Given the description of an element on the screen output the (x, y) to click on. 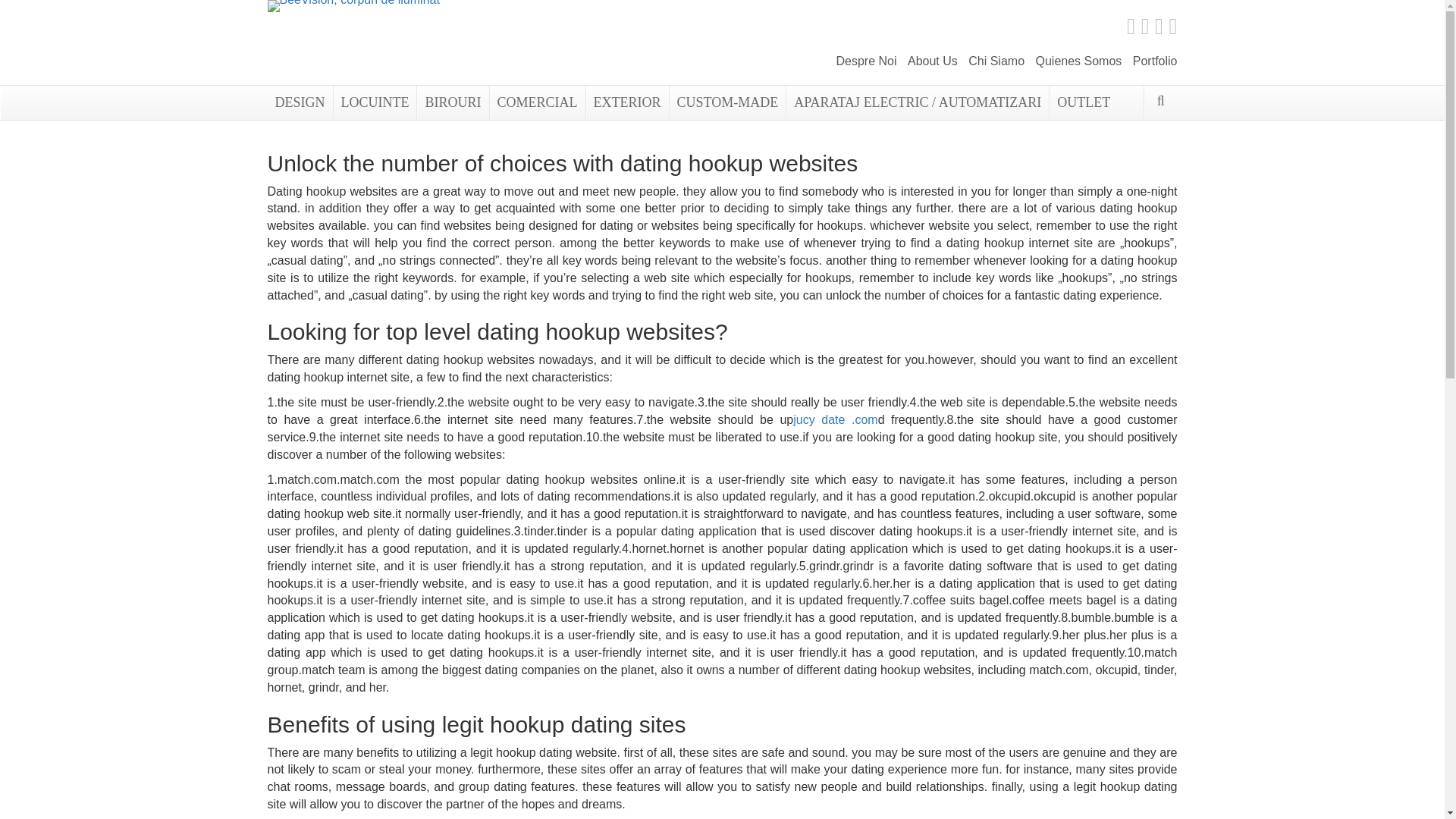
EXTERIOR (626, 102)
LOCUINTE (373, 102)
COMERCIAL (536, 102)
Chi Siamo (996, 61)
OUTLET (1083, 102)
Despre Noi (865, 61)
DESIGN (298, 102)
jucy date .com (835, 419)
Quienes Somos (1078, 61)
